Given the description of an element on the screen output the (x, y) to click on. 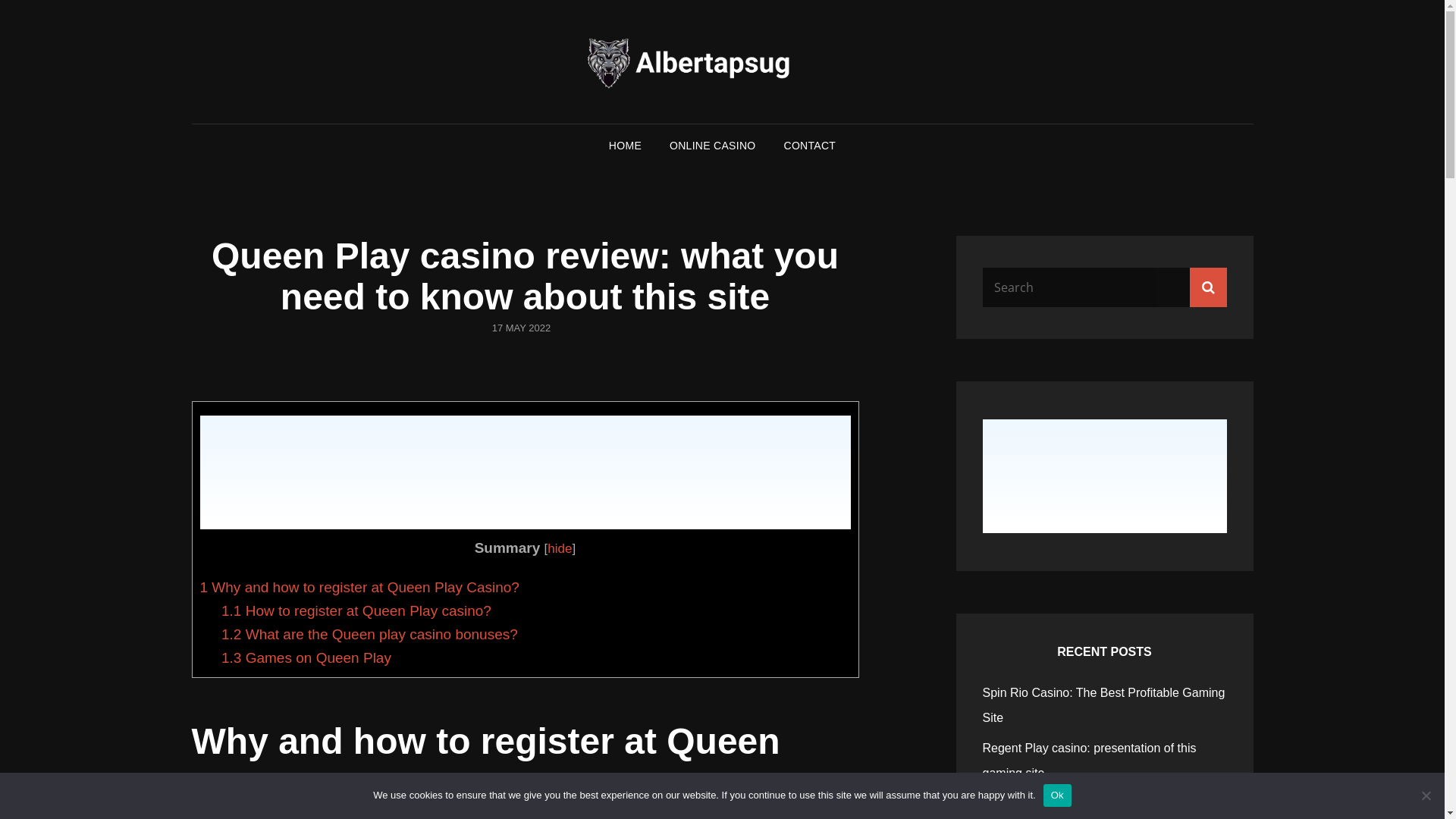
Ok Element type: text (1057, 795)
Spin Rio Casino: The Best Profitable Gaming Site Element type: text (1103, 705)
1.1 How to register at Queen Play casino? Element type: text (356, 610)
1.3 Games on Queen Play Element type: text (306, 657)
CONTACT Element type: text (809, 145)
1 Why and how to register at Queen Play Casino? Element type: text (359, 587)
Search Element type: text (1207, 287)
Regent Play casino: presentation of this gaming site Element type: text (1089, 760)
ALBERTAPSUG.CA Element type: text (1066, 83)
17 MAY 2022 Element type: text (521, 327)
ONLINE CASINO Element type: text (712, 145)
HOME Element type: text (624, 145)
No Element type: hover (1425, 795)
1.2 What are the Queen play casino bonuses? Element type: text (369, 634)
hide Element type: text (559, 548)
